Given the description of an element on the screen output the (x, y) to click on. 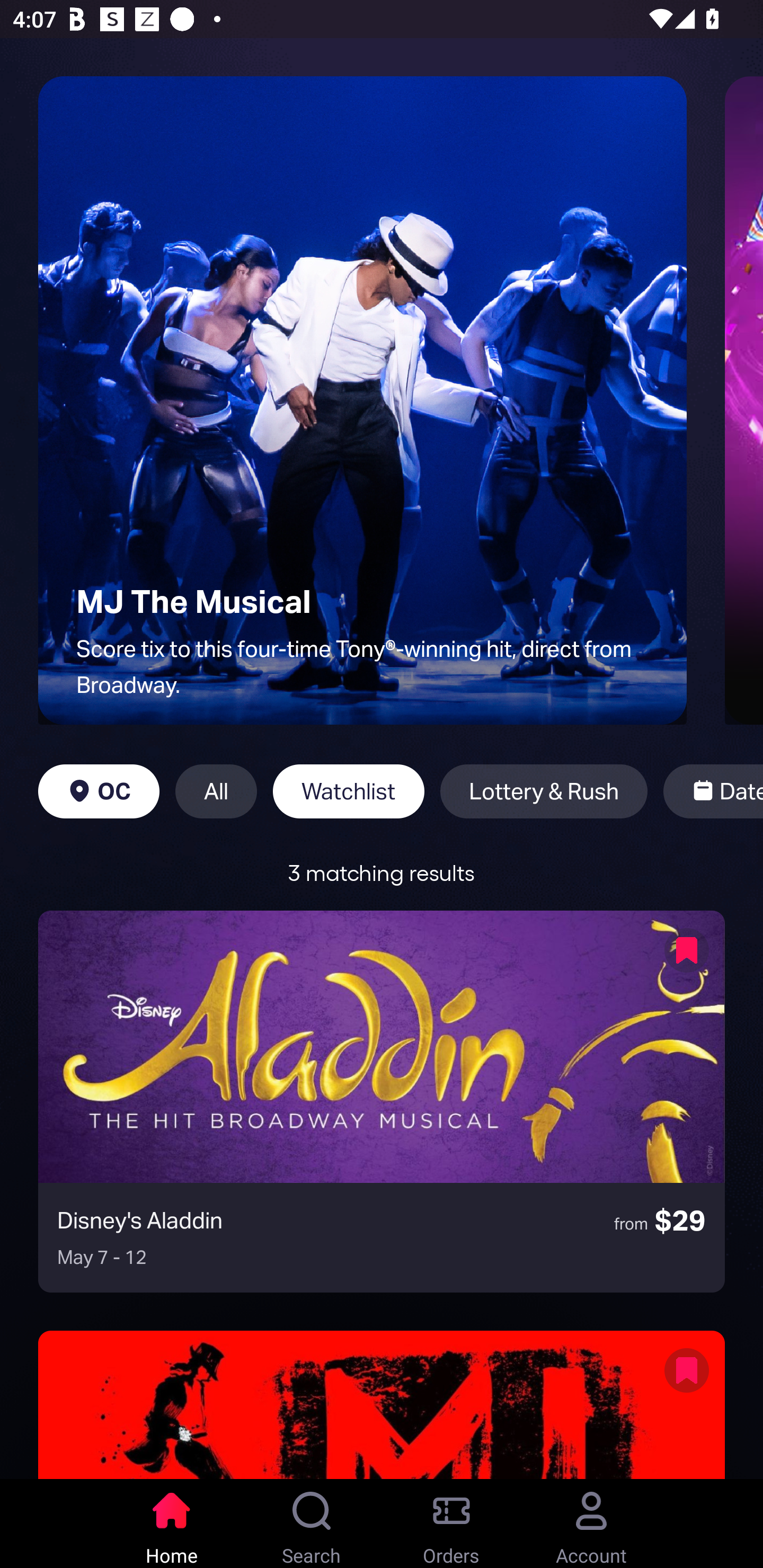
OC (98, 791)
All (216, 791)
Watchlist (348, 791)
Lottery & Rush (543, 791)
Disney's Aladdin from $29 May 7 - 12 (381, 1101)
Search (311, 1523)
Orders (451, 1523)
Account (591, 1523)
